Given the description of an element on the screen output the (x, y) to click on. 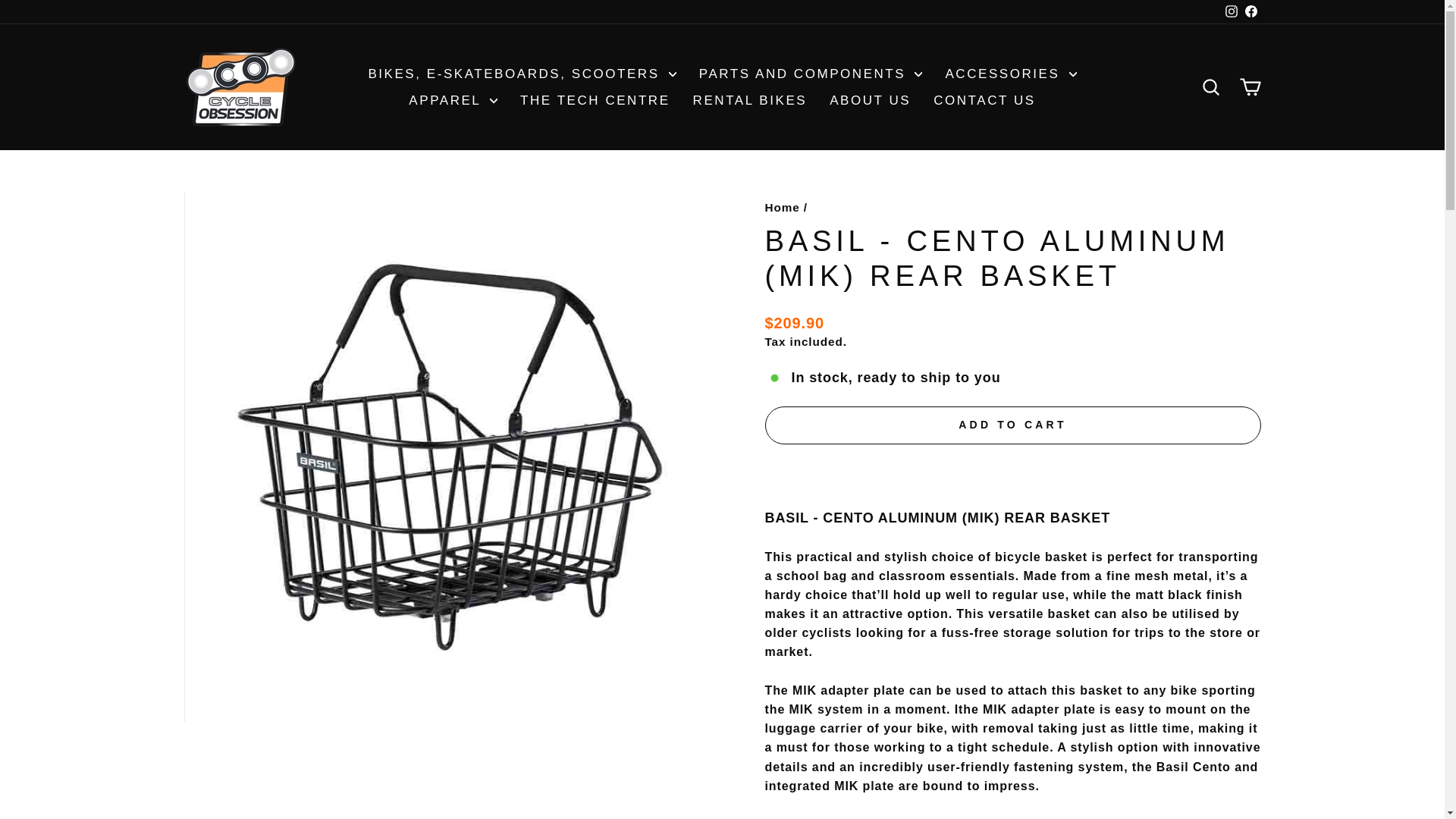
instagram (1231, 10)
ICON-SEARCH (1210, 86)
Back to the frontpage (781, 206)
